Given the description of an element on the screen output the (x, y) to click on. 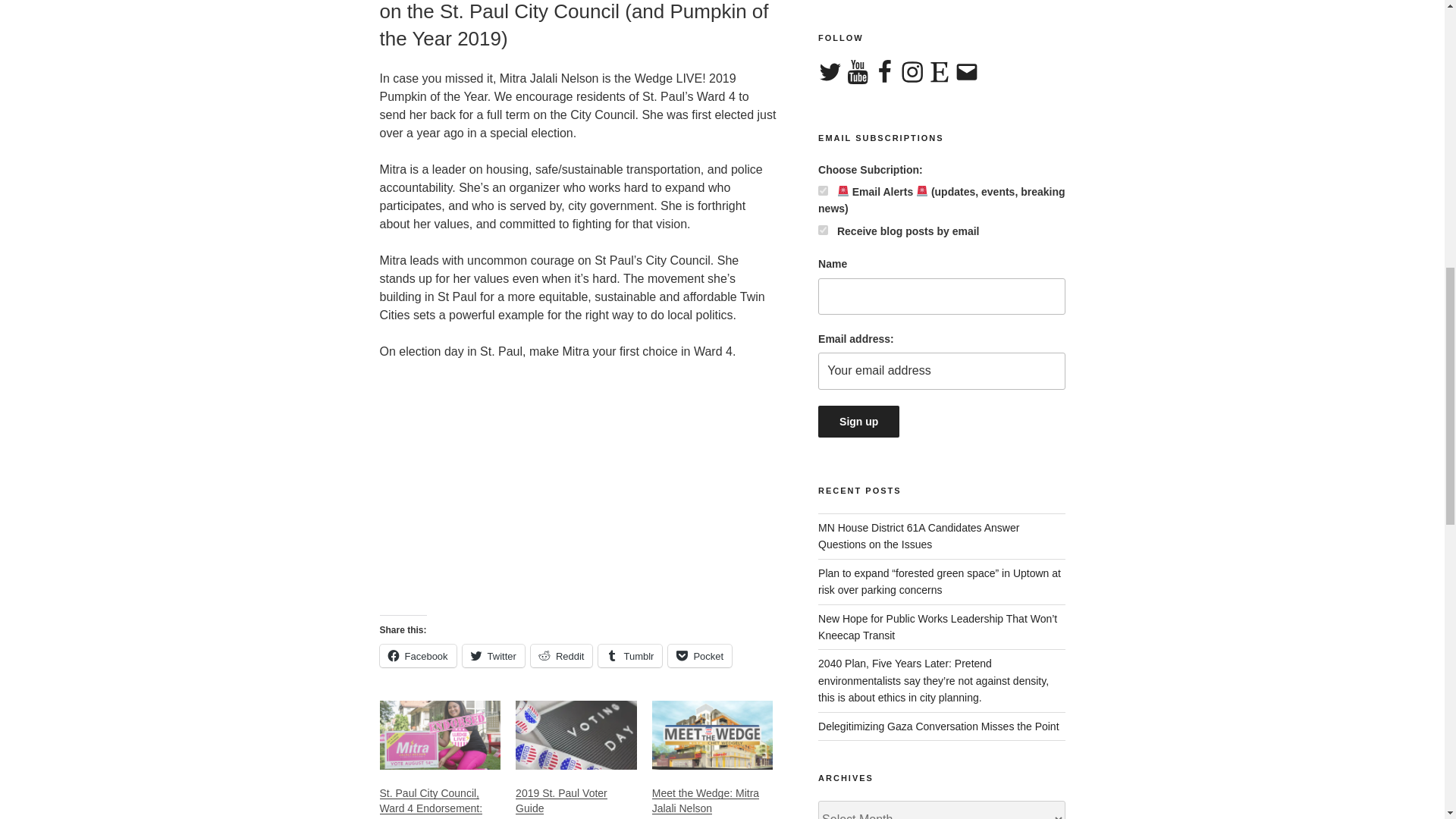
Meet the Wedge: Mitra Jalali Nelson (712, 735)
Twitter (830, 72)
Twitter (493, 655)
2019 St. Paul Voter Guide (561, 800)
YouTube (857, 72)
Sign up (858, 421)
ec1c2627b4 (823, 190)
2019 St. Paul Voter Guide (576, 735)
Delegitimizing Gaza Conversation Misses the Point (938, 726)
2019 St. Paul Voter Guide (561, 800)
Meet the Wedge: Mitra Jalali Nelson (705, 800)
Instagram (911, 72)
Tumblr (630, 655)
